Given the description of an element on the screen output the (x, y) to click on. 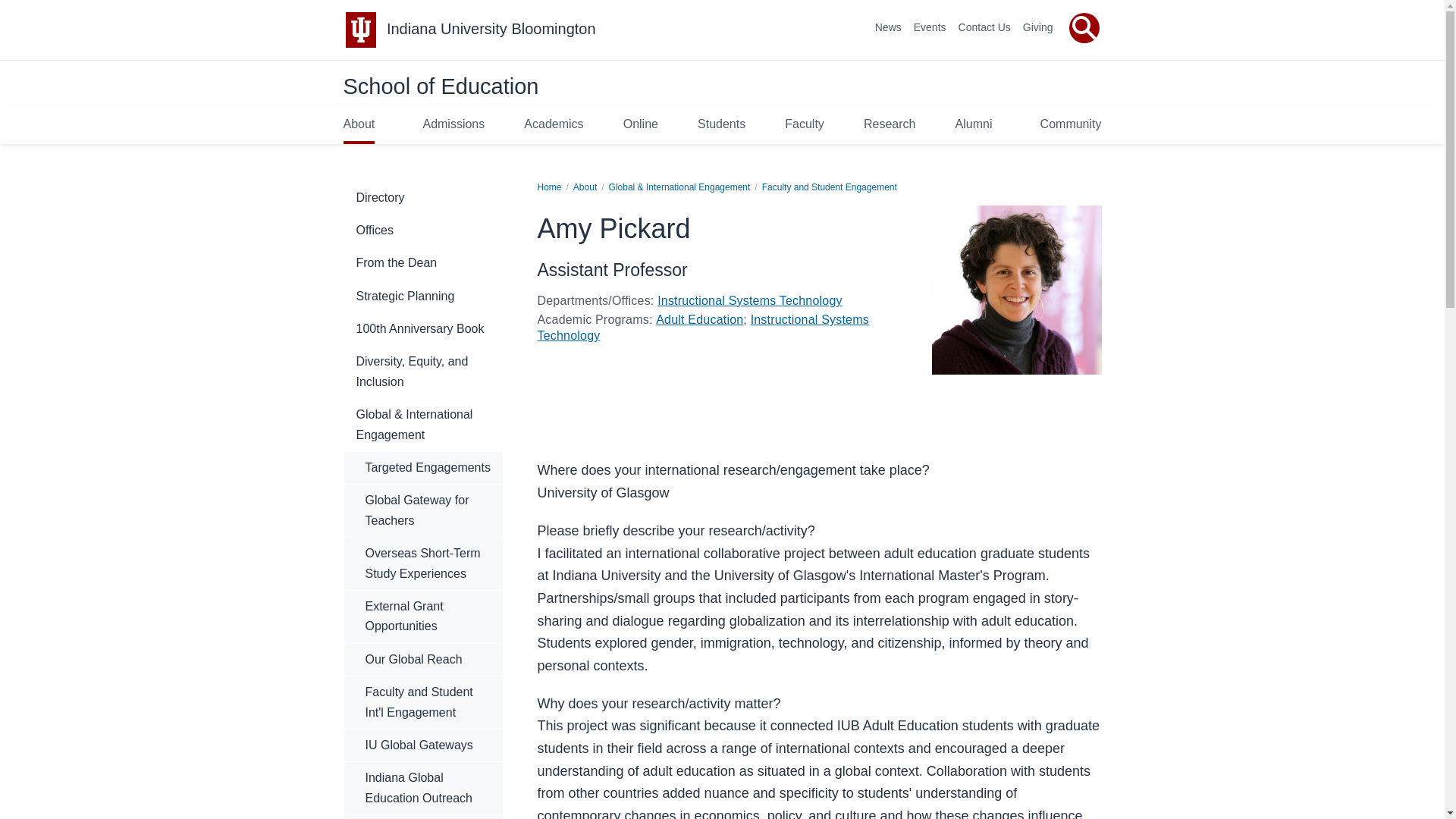
Indiana University Bloomington (491, 28)
Indiana University Bloomington (491, 28)
